Given the description of an element on the screen output the (x, y) to click on. 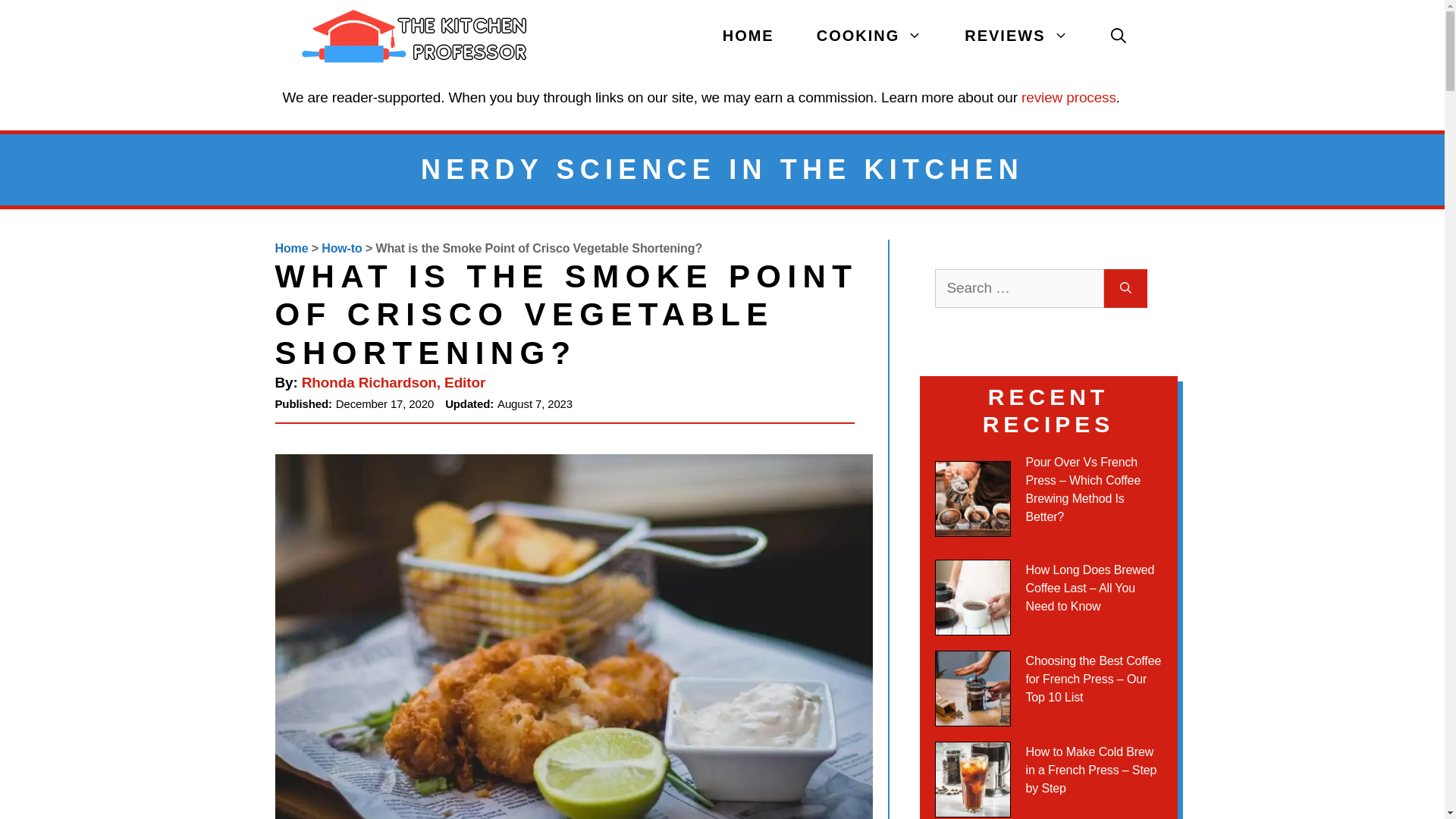
HOME (747, 36)
REVIEWS (1016, 36)
COOKING (868, 36)
